Given the description of an element on the screen output the (x, y) to click on. 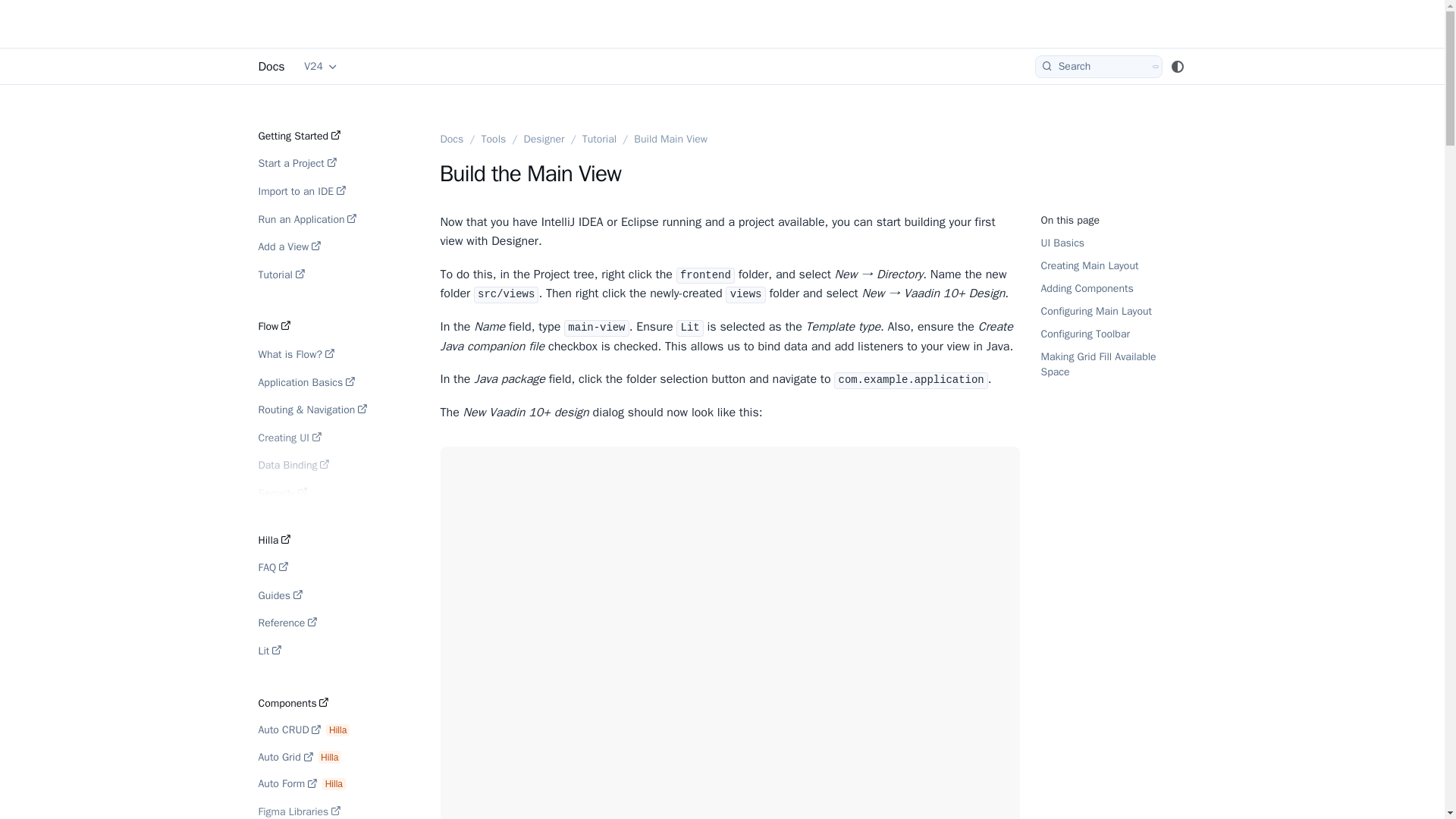
Tutorial (312, 275)
Docs (270, 66)
Add a View (321, 246)
Run an Application (321, 219)
Getting Started (320, 135)
Start a Project (321, 163)
Search (1097, 66)
Import to an IDE (321, 191)
